Given the description of an element on the screen output the (x, y) to click on. 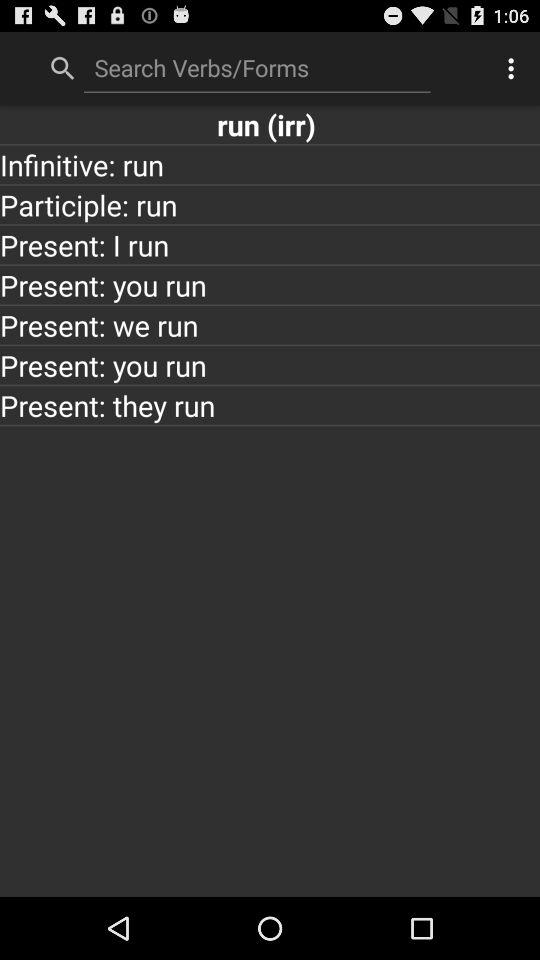
jump to the run (irr) (270, 124)
